Given the description of an element on the screen output the (x, y) to click on. 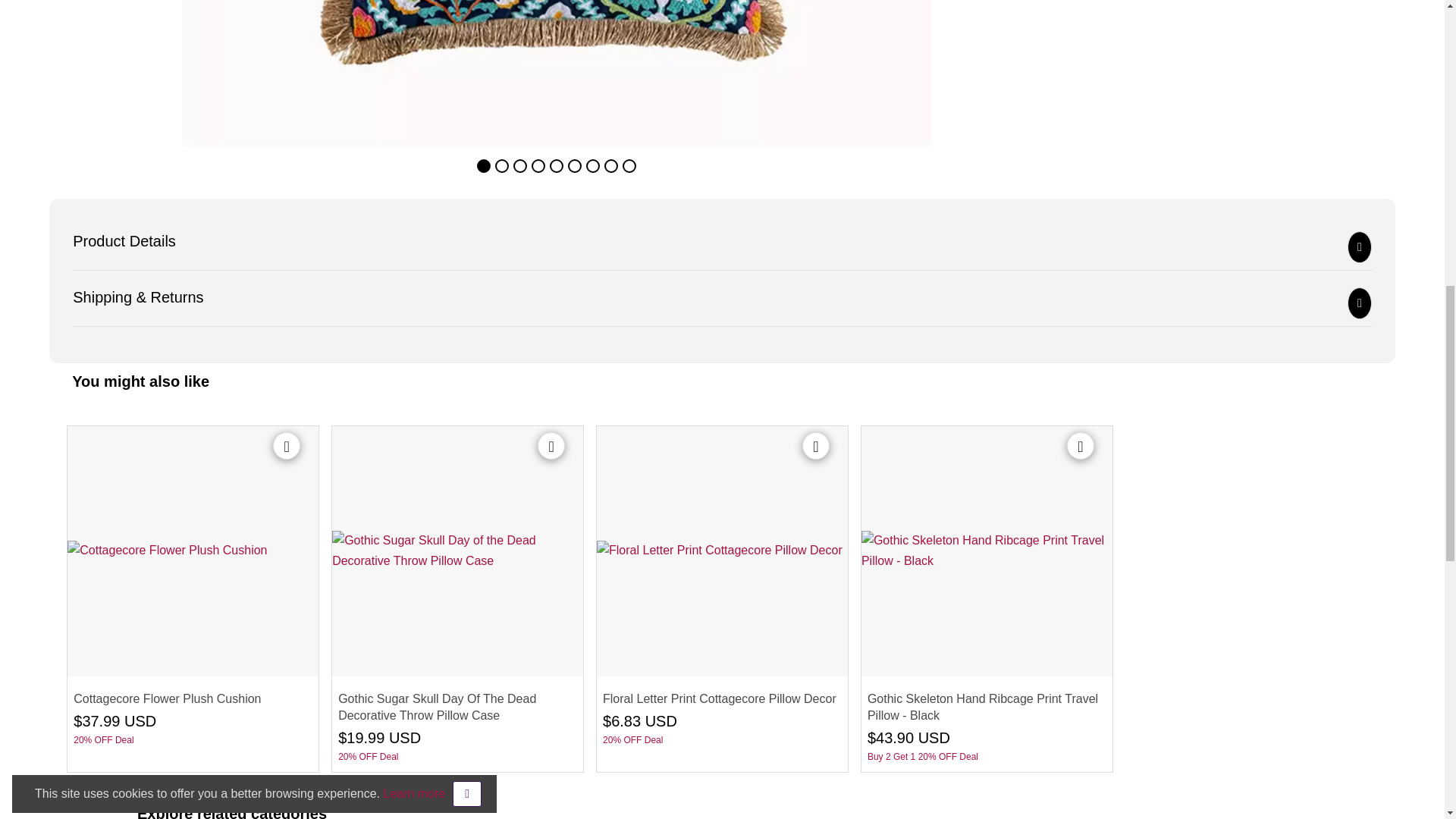
Tufted Embroidered Cottagecore Throw Cushion Cover (556, 75)
Tufted Embroidered Cottagecore Throw Cushion Cover (91, 75)
Cottagecore Flower Plush Cushion (192, 550)
